Given the description of an element on the screen output the (x, y) to click on. 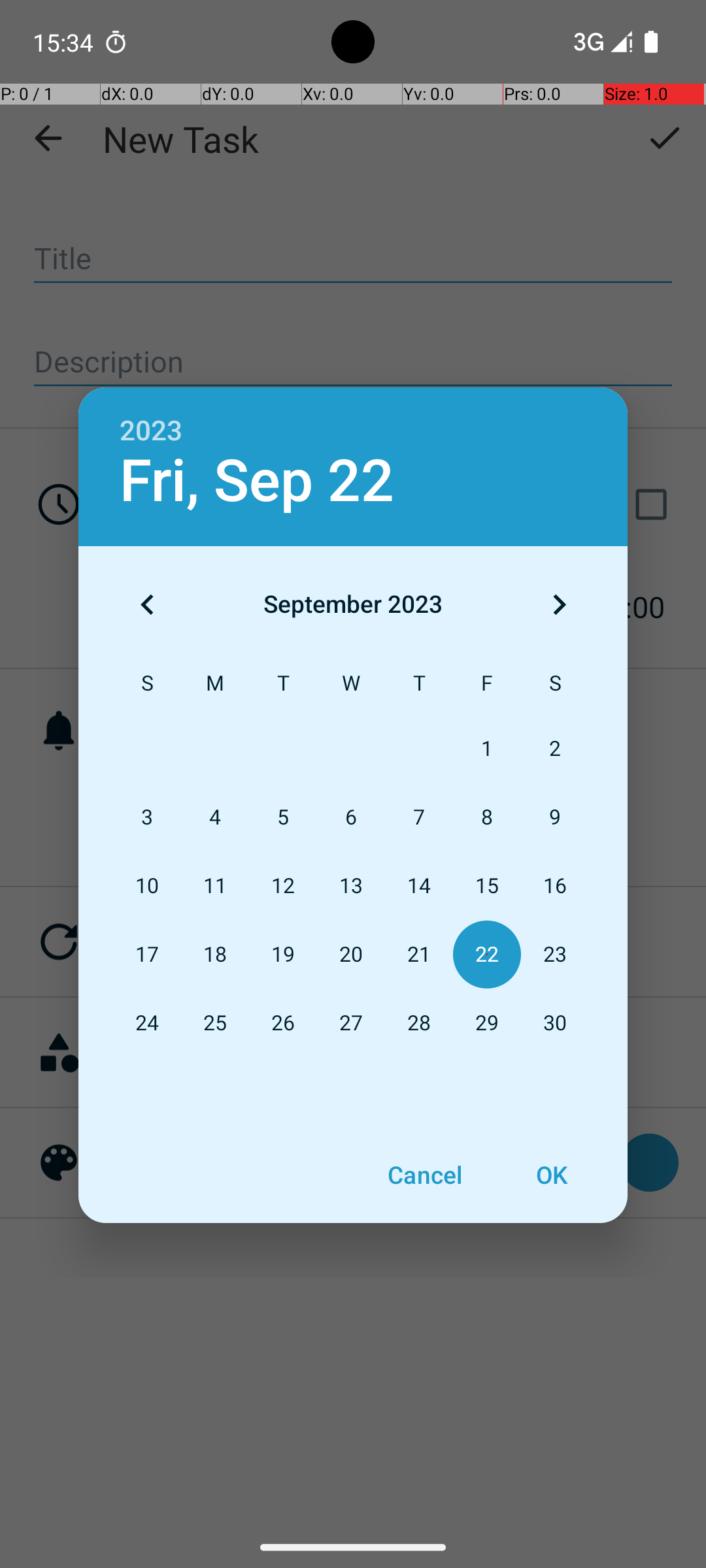
Fri, Sep 22 Element type: android.widget.TextView (256, 480)
